Given the description of an element on the screen output the (x, y) to click on. 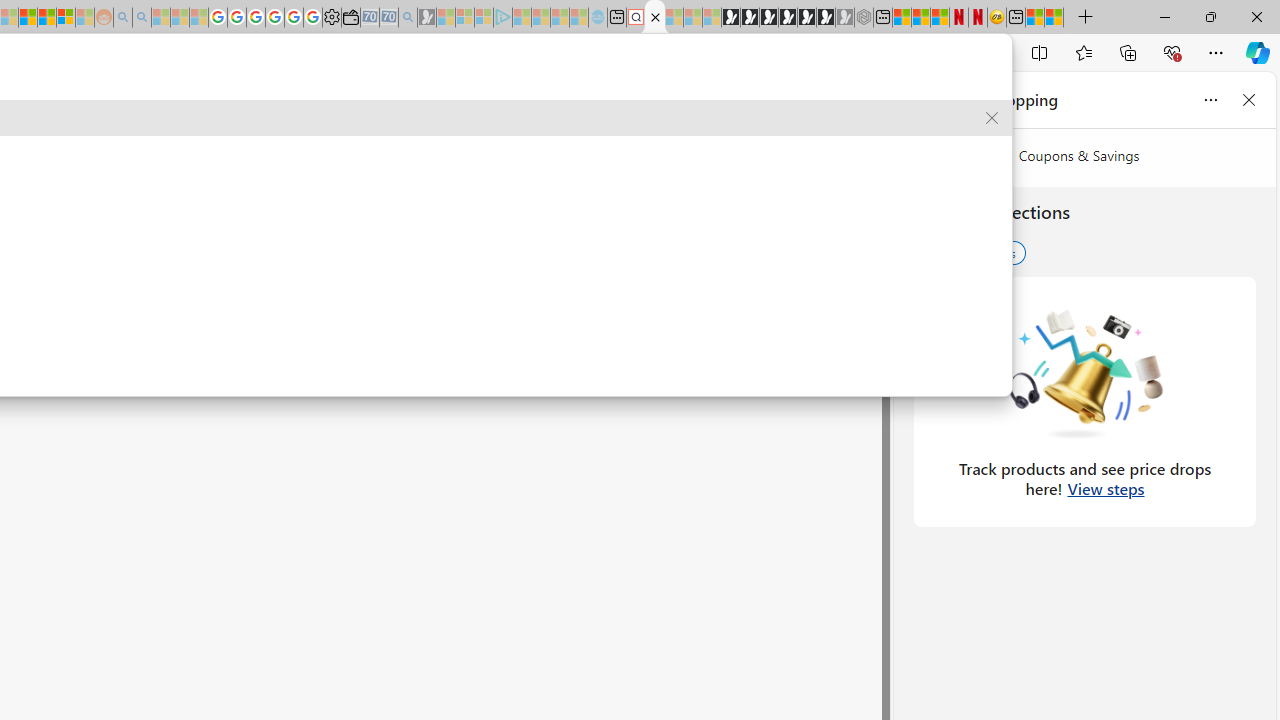
Wildlife - MSN (1035, 17)
